Given the description of an element on the screen output the (x, y) to click on. 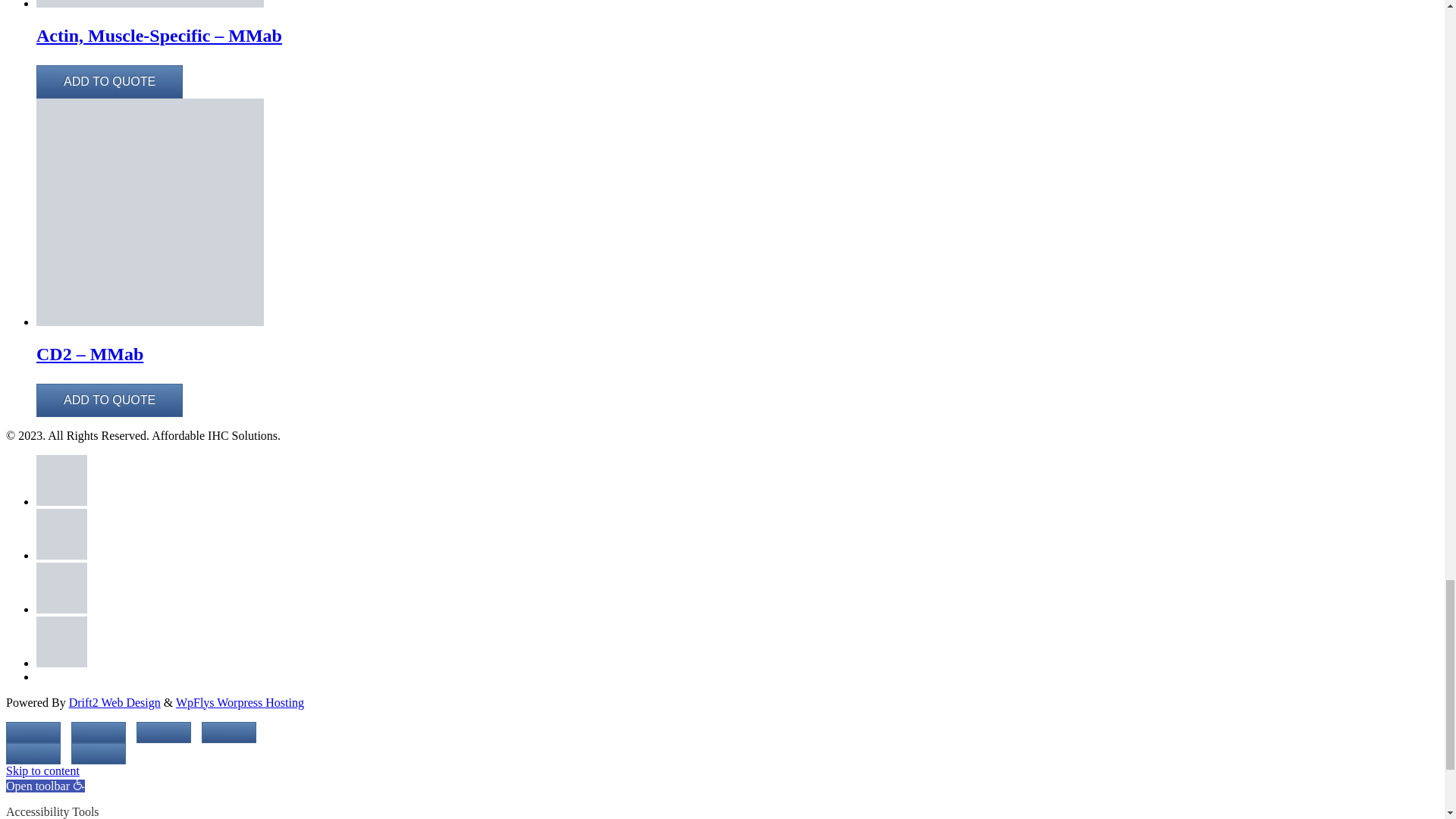
Accessibility Tools (78, 784)
Accessibility Tools (44, 785)
